Given the description of an element on the screen output the (x, y) to click on. 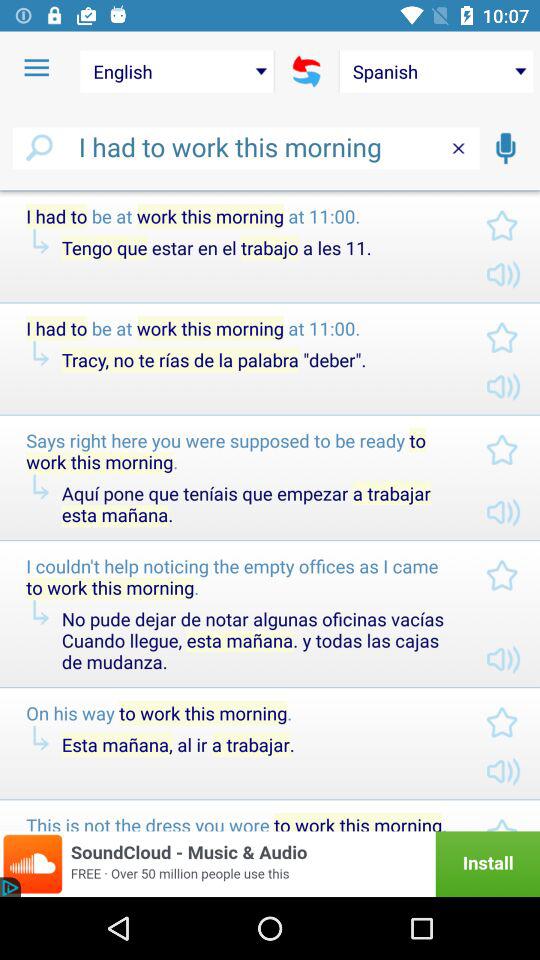
soundcloud add install (270, 864)
